Given the description of an element on the screen output the (x, y) to click on. 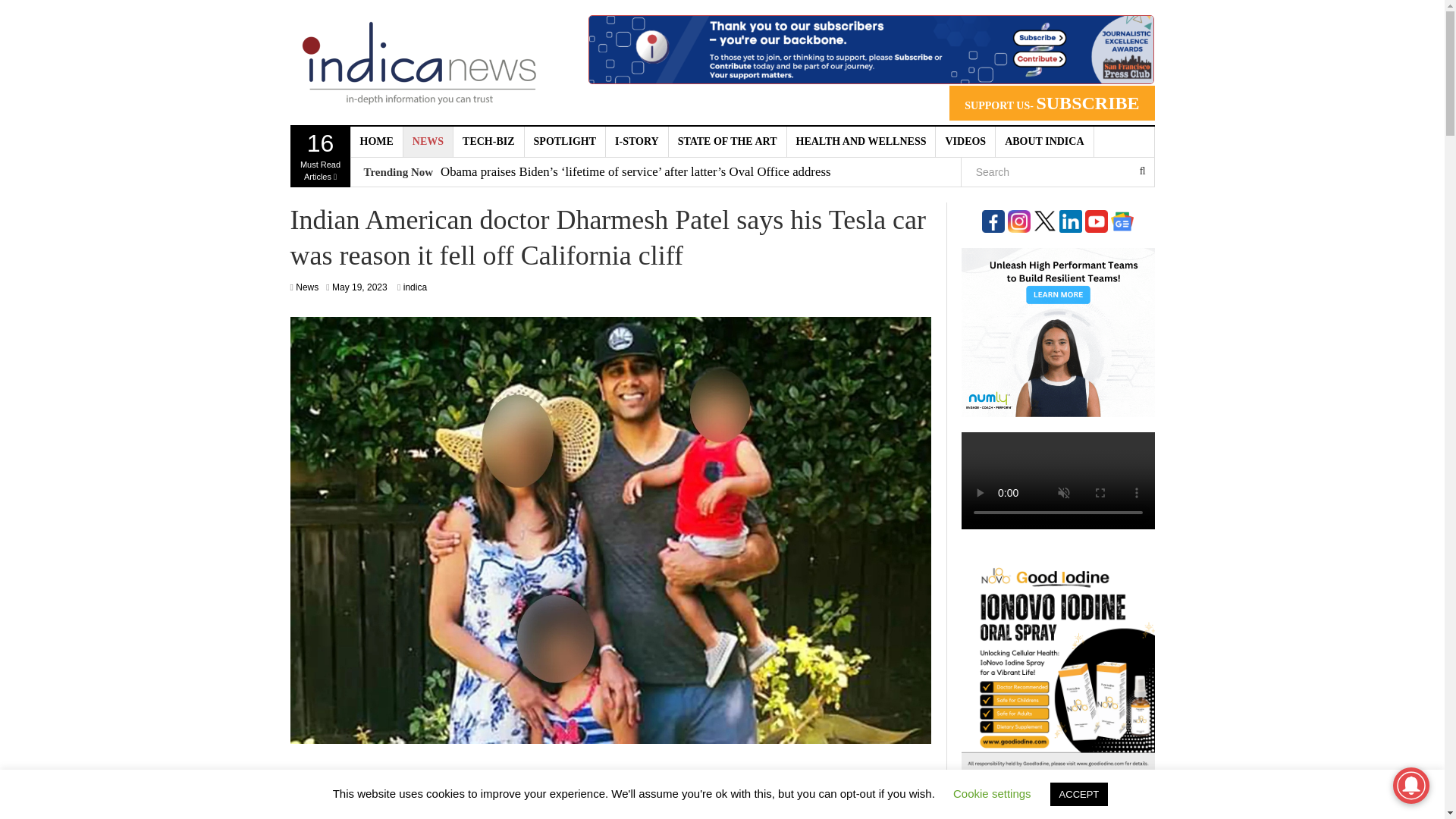
NEWS (359, 286)
HOME (427, 141)
STATE OF THE ART (376, 141)
indica News (727, 141)
SUPPORT US- SUBSCRIBE (418, 62)
I-STORY (1051, 102)
ABOUT INDICA (636, 141)
News (1044, 141)
Share (306, 286)
SPOTLIGHT (567, 789)
TECH-BIZ (564, 141)
indica (488, 141)
HEALTH AND WELLNESS (414, 286)
Tweet (861, 141)
